Given the description of an element on the screen output the (x, y) to click on. 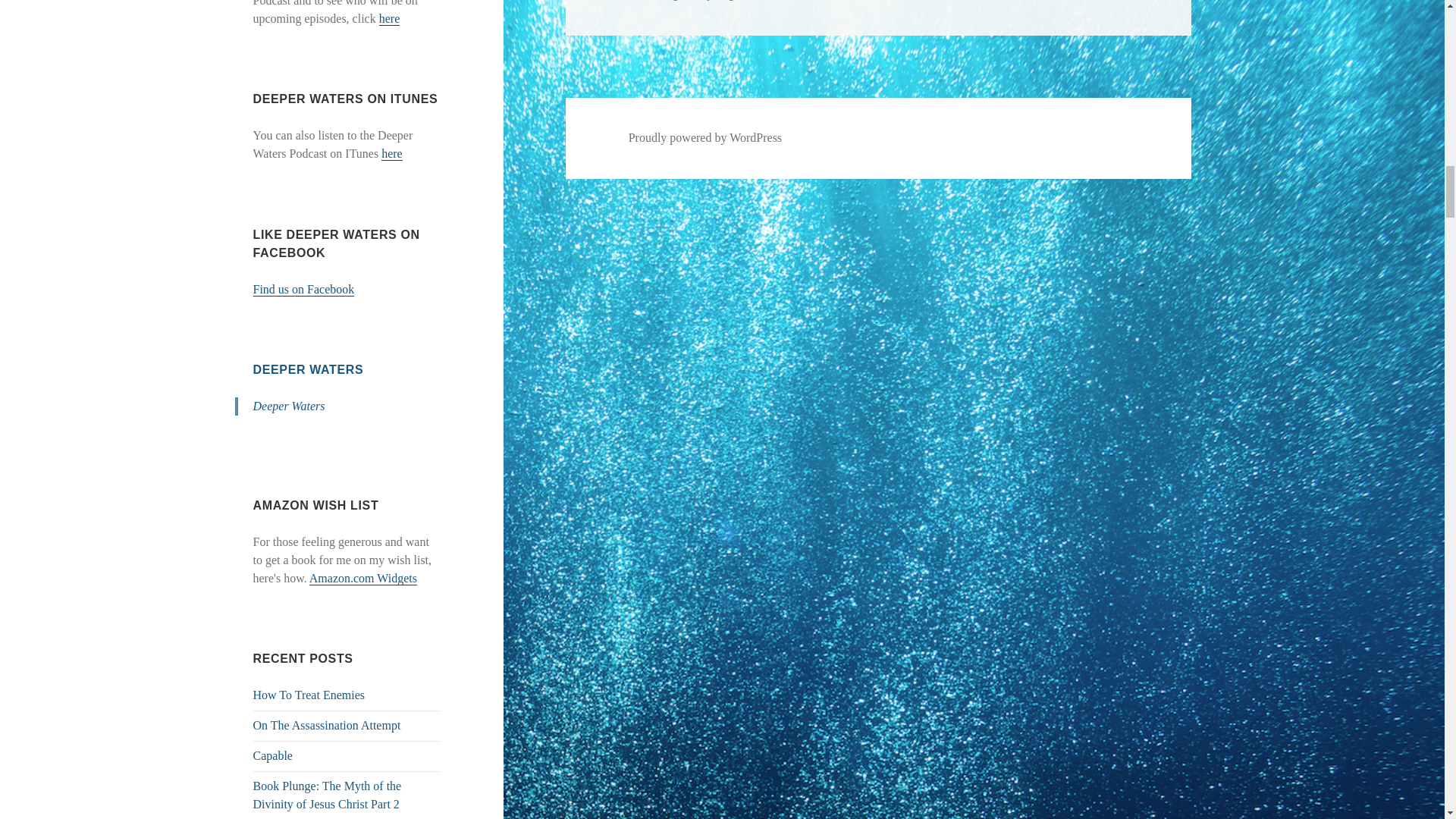
Book Plunge: The Myth of the Divinity of Jesus Christ Part 2 (327, 794)
Deeper Waters (288, 405)
Find us on Facebook (304, 289)
here (392, 153)
DEEPER WATERS (308, 369)
Capable (272, 755)
On The Assassination Attempt (327, 725)
Amazon.com Widgets (362, 578)
How To Treat Enemies (309, 694)
here (389, 18)
